Given the description of an element on the screen output the (x, y) to click on. 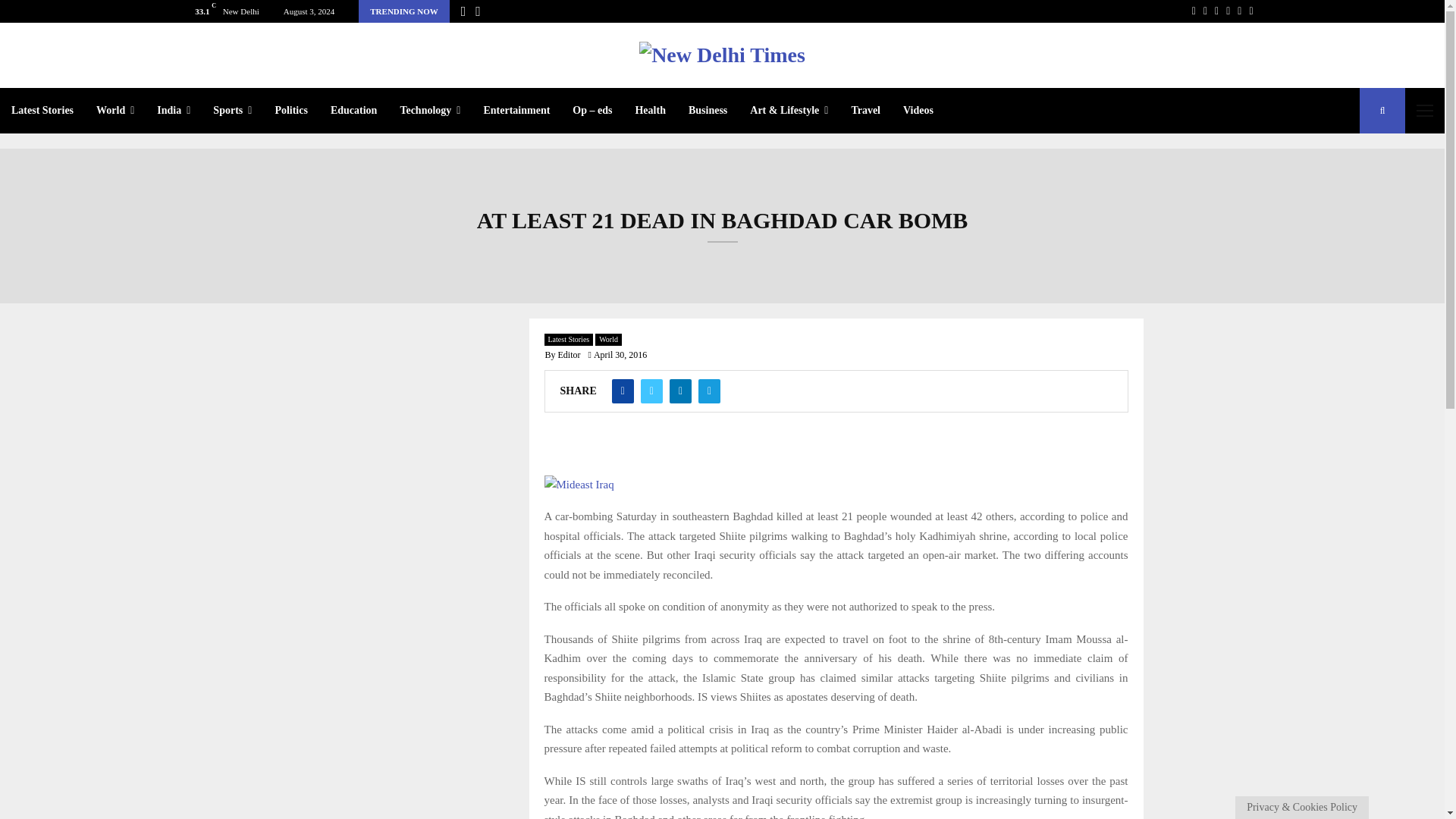
Latest Stories (42, 110)
